Given the description of an element on the screen output the (x, y) to click on. 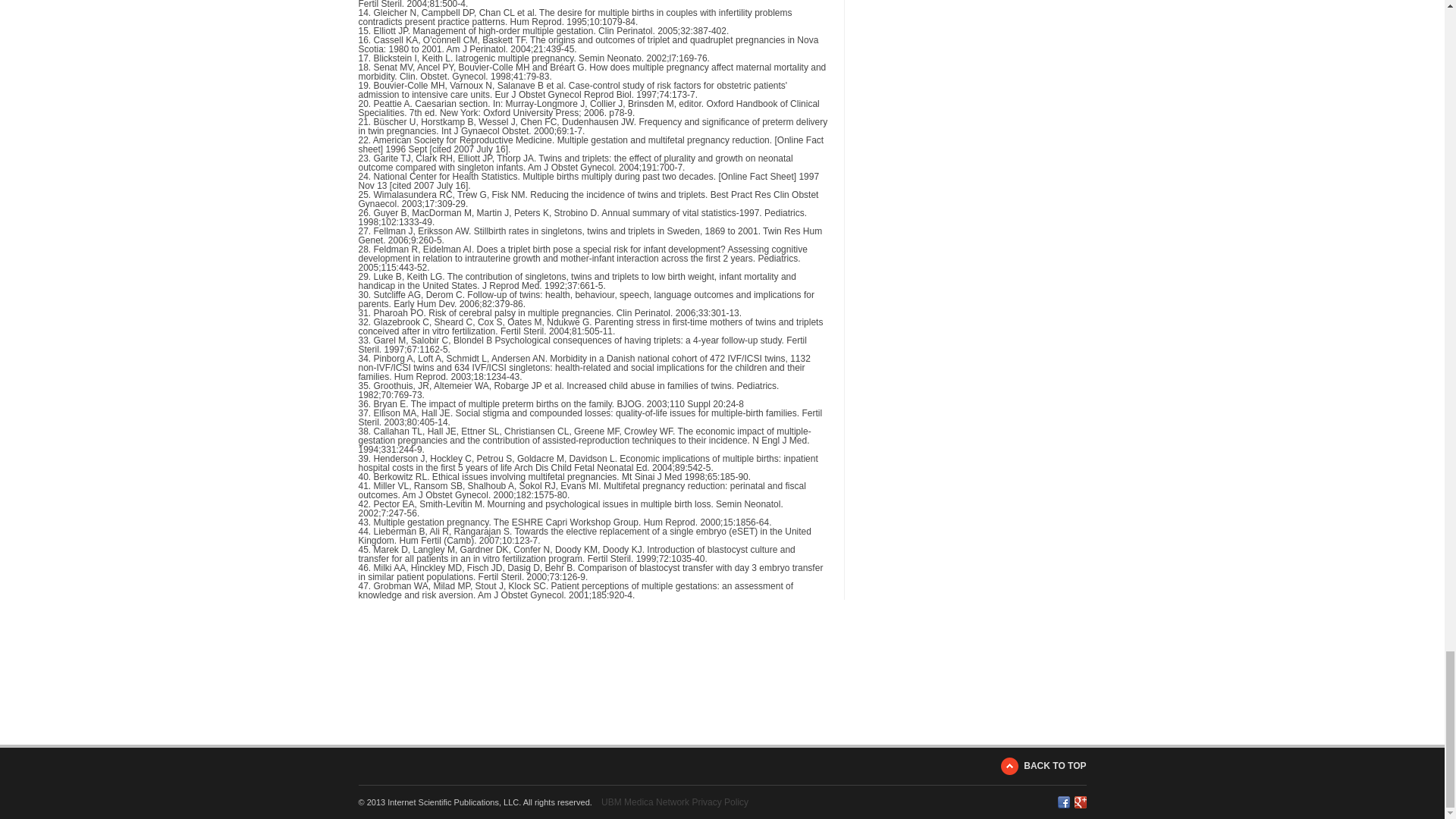
BACK TO TOP (1043, 765)
Facebook (1062, 802)
UBM Medica Network Privacy Policy (674, 801)
Google Plus (1080, 802)
